Given the description of an element on the screen output the (x, y) to click on. 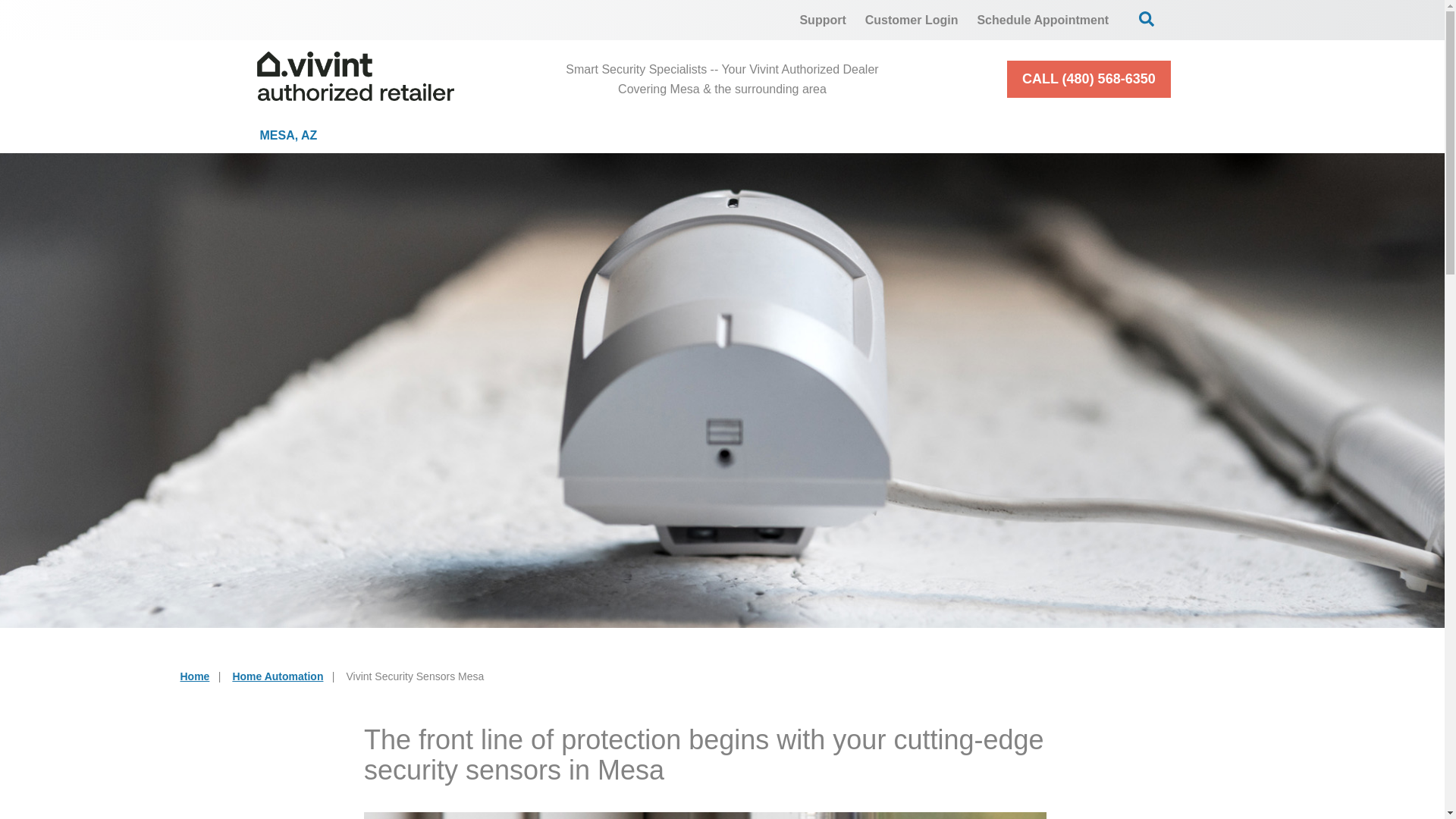
Open Search (1146, 18)
Support (822, 20)
Home (194, 676)
Cameras (646, 135)
Customer Login (911, 20)
Schedule Appointment (1042, 20)
Home Automation (277, 676)
Smart Home Automation (857, 135)
Home Security (465, 135)
